Given the description of an element on the screen output the (x, y) to click on. 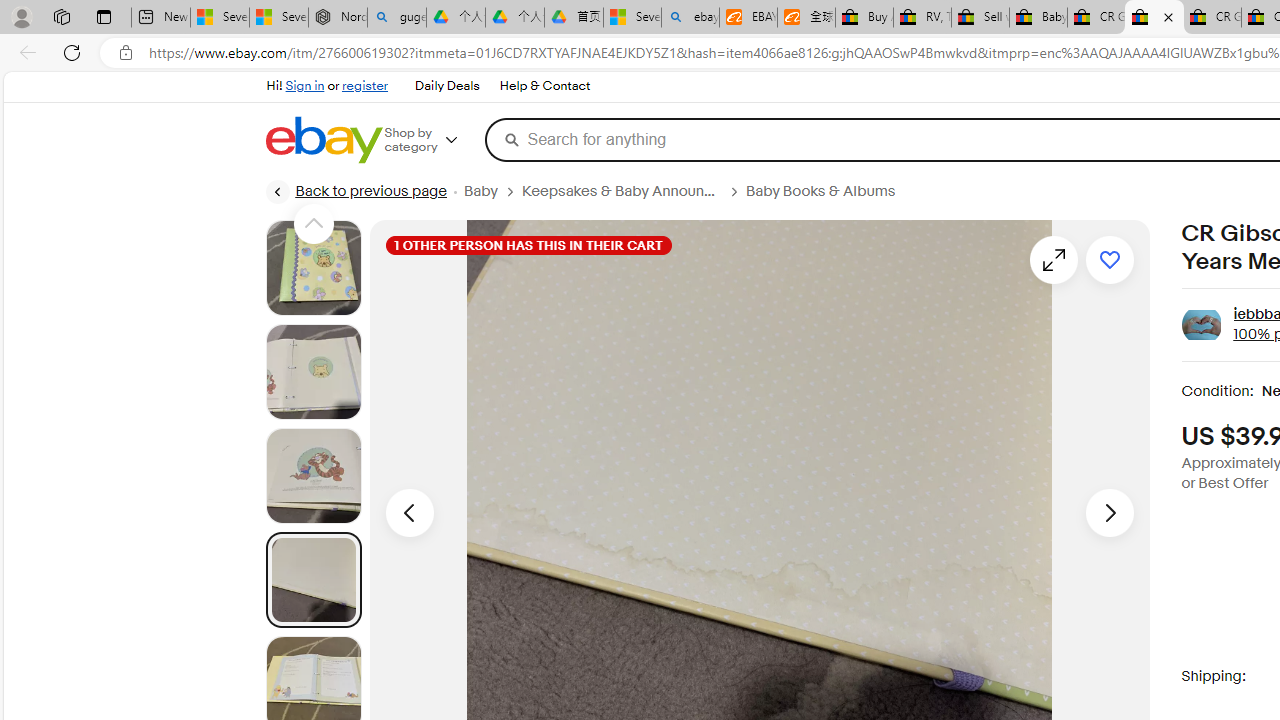
Add to watchlist (1109, 259)
Baby (492, 191)
Previous image - Item images thumbnails (409, 512)
